Given the description of an element on the screen output the (x, y) to click on. 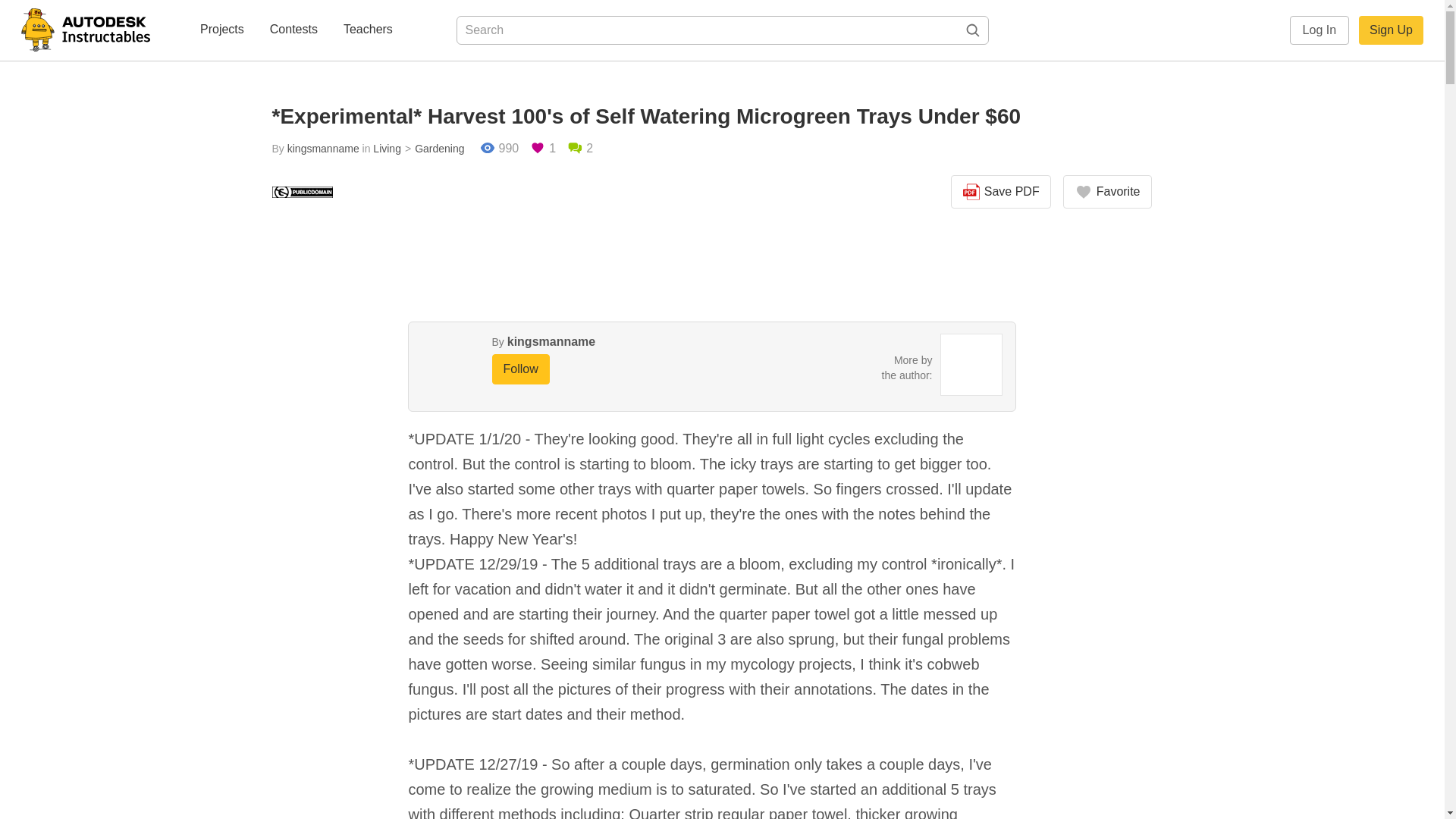
Teachers (368, 30)
Favorite (1106, 191)
Follow (520, 368)
Contests (293, 30)
kingsmanname (550, 341)
Living (386, 148)
Save PDF (1000, 191)
More by the author: (907, 366)
kingsmanname (322, 148)
2 (579, 148)
Sign Up (1390, 30)
Projects (221, 30)
Log In (1319, 30)
Gardening (432, 148)
